Given the description of an element on the screen output the (x, y) to click on. 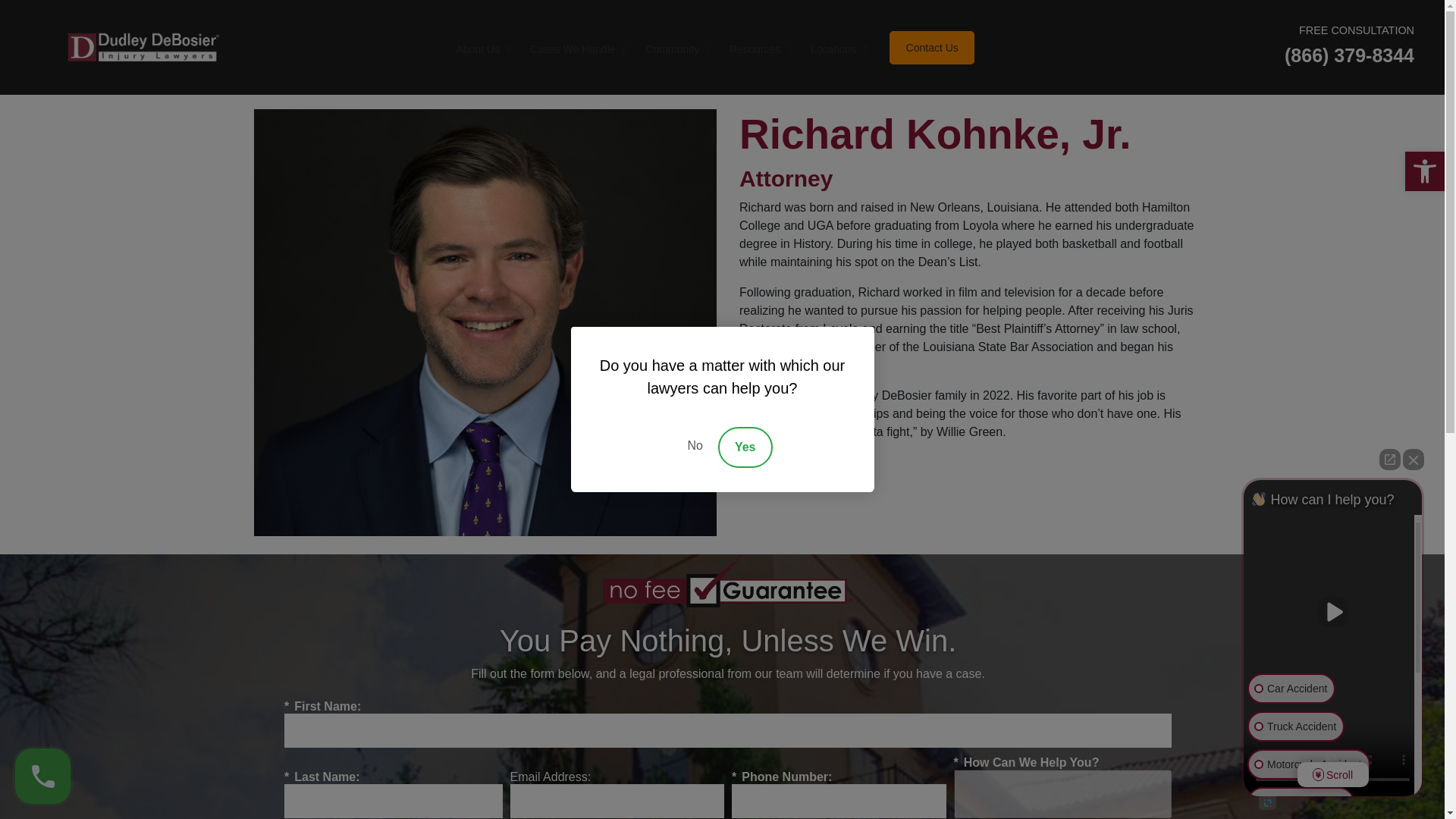
Community (676, 49)
About Us (481, 49)
Accessibility Tools (1424, 170)
Cases We Handle (1424, 170)
Accessibility Tools (576, 49)
